Given the description of an element on the screen output the (x, y) to click on. 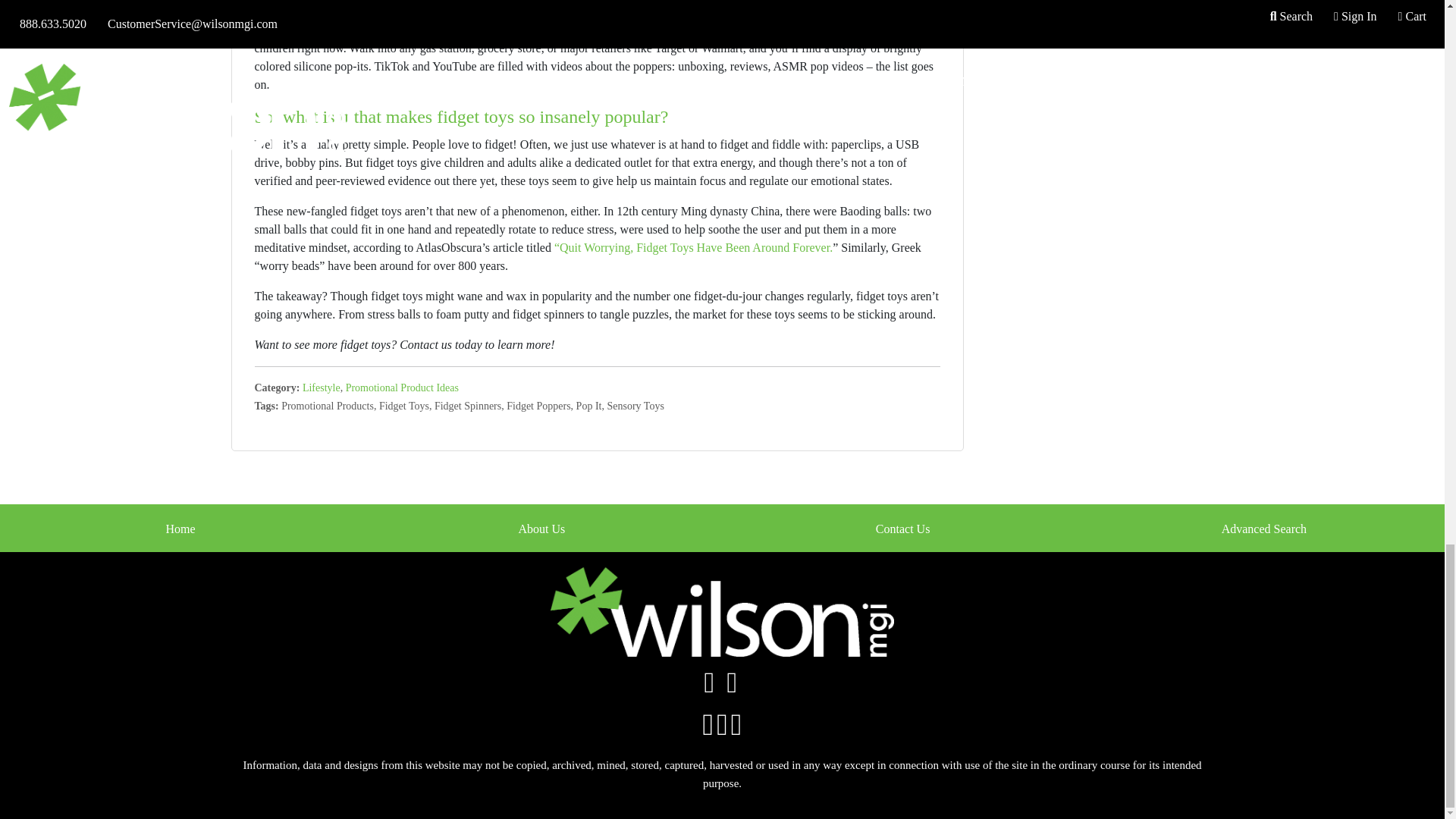
Lifestyle (321, 387)
Visit us on LinkedIn (731, 687)
Promotional Product Ideas (402, 387)
Visit us on Facebook (709, 687)
